Given the description of an element on the screen output the (x, y) to click on. 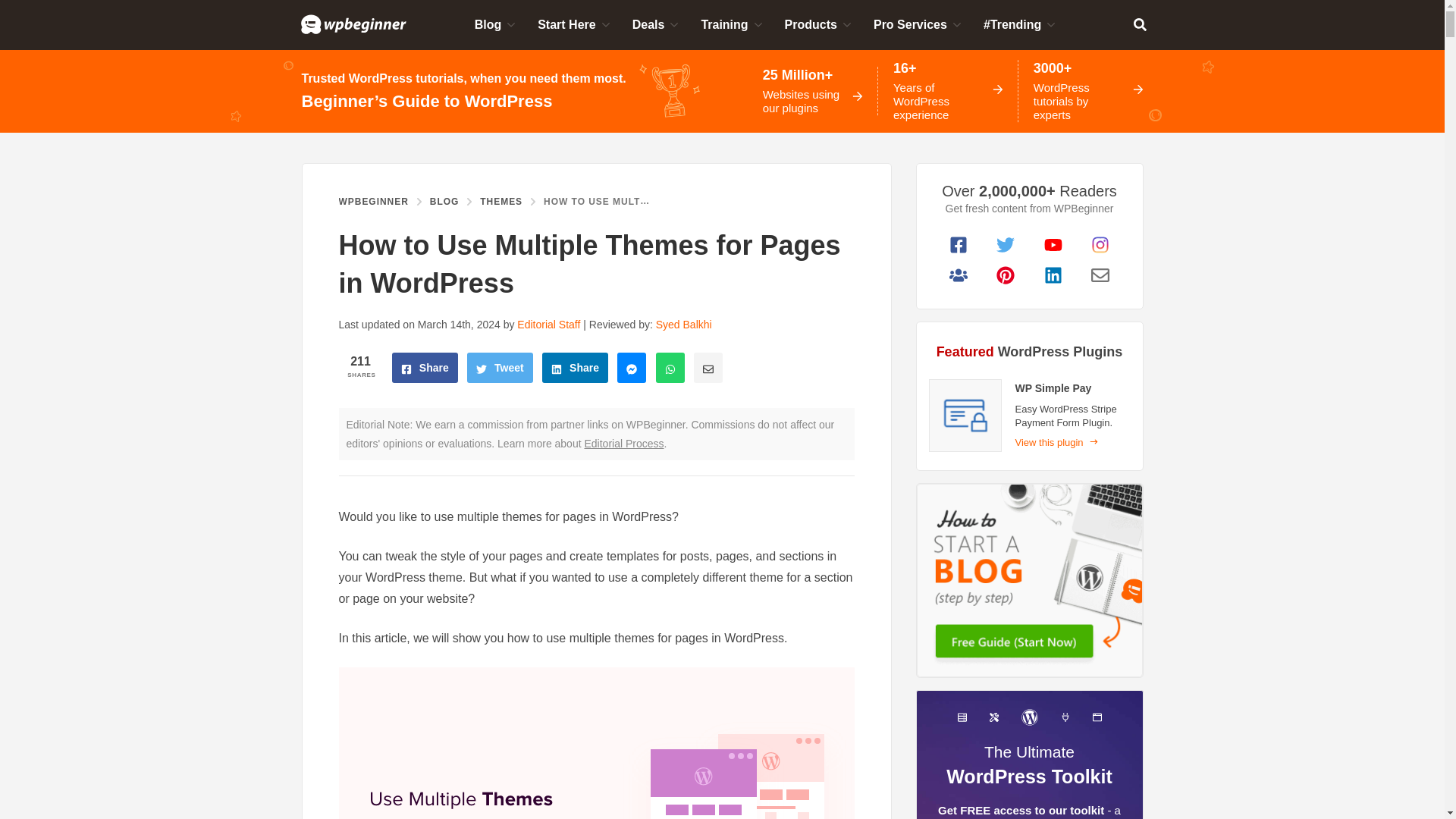
Start Here (572, 24)
Blog (494, 24)
WPBeginner - Beginners Guide for WordPress (353, 24)
Deals (654, 24)
WPBeginner - WordPress Tutorials for Beginners (353, 24)
